Given the description of an element on the screen output the (x, y) to click on. 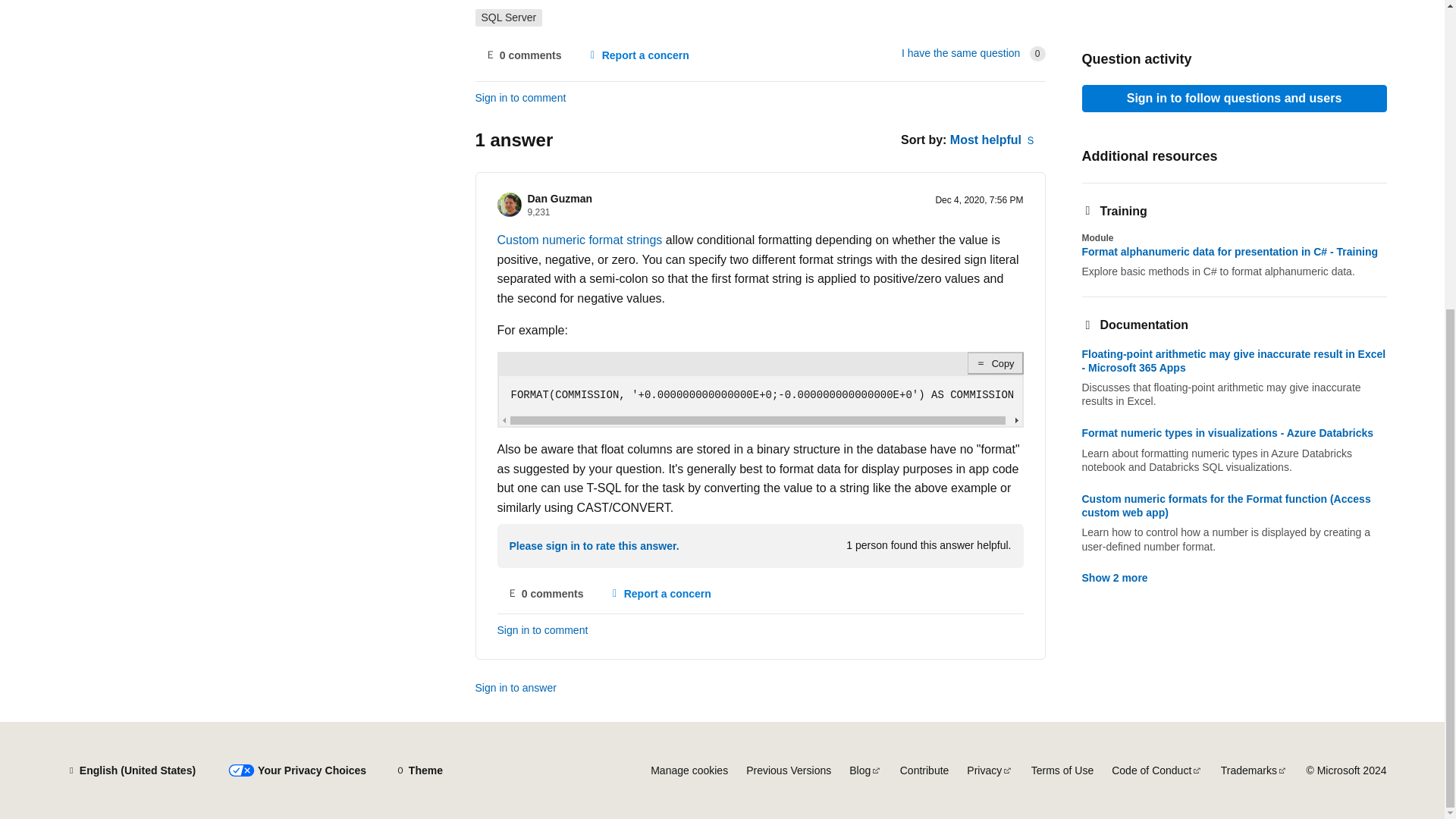
No comments (522, 54)
Report a concern (637, 54)
No comments (545, 593)
Reputation points (538, 212)
Theme (419, 770)
Report a concern (659, 593)
You have the same or similar question (960, 51)
